Given the description of an element on the screen output the (x, y) to click on. 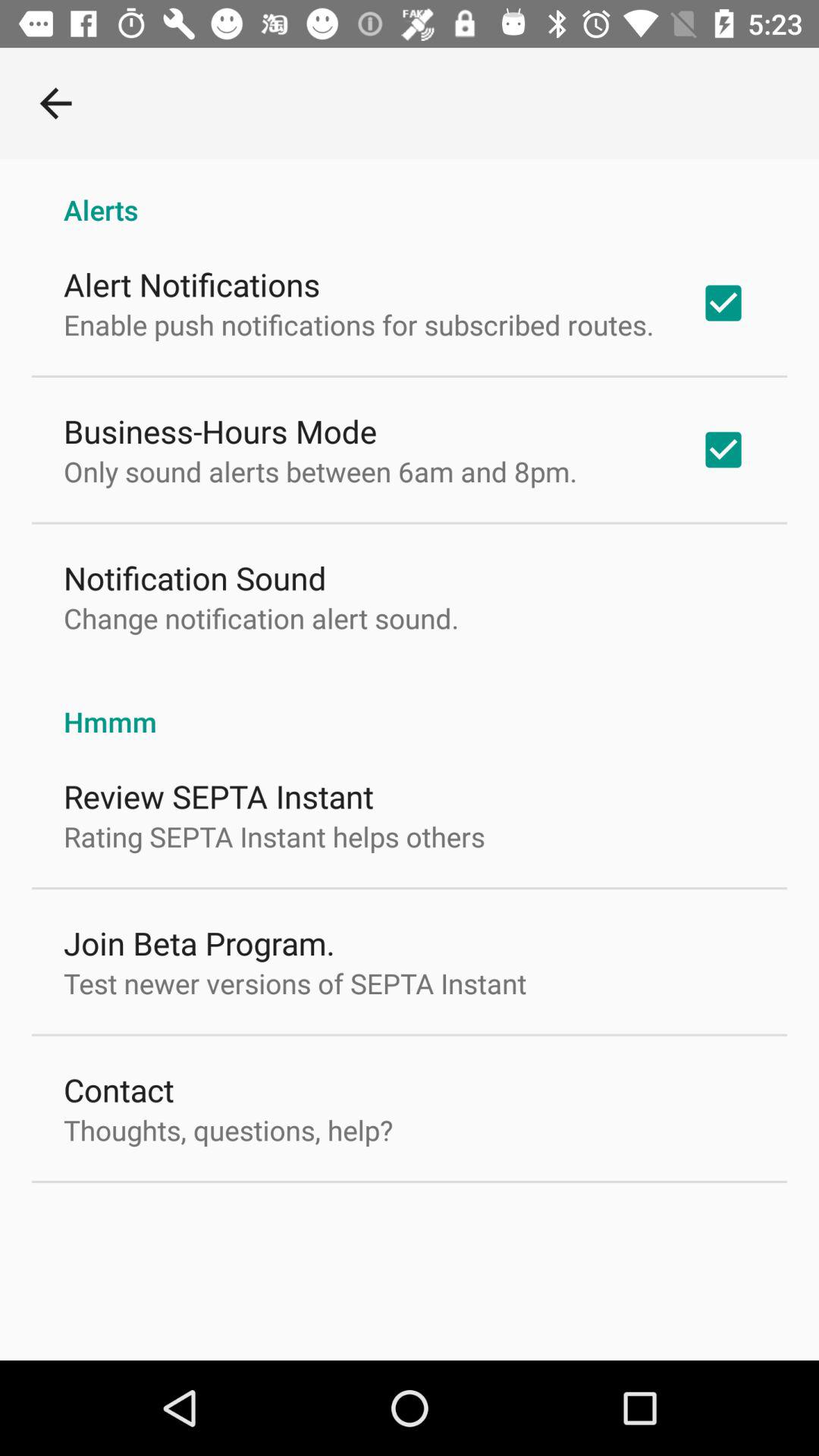
turn on the icon below alerts item (191, 283)
